Given the description of an element on the screen output the (x, y) to click on. 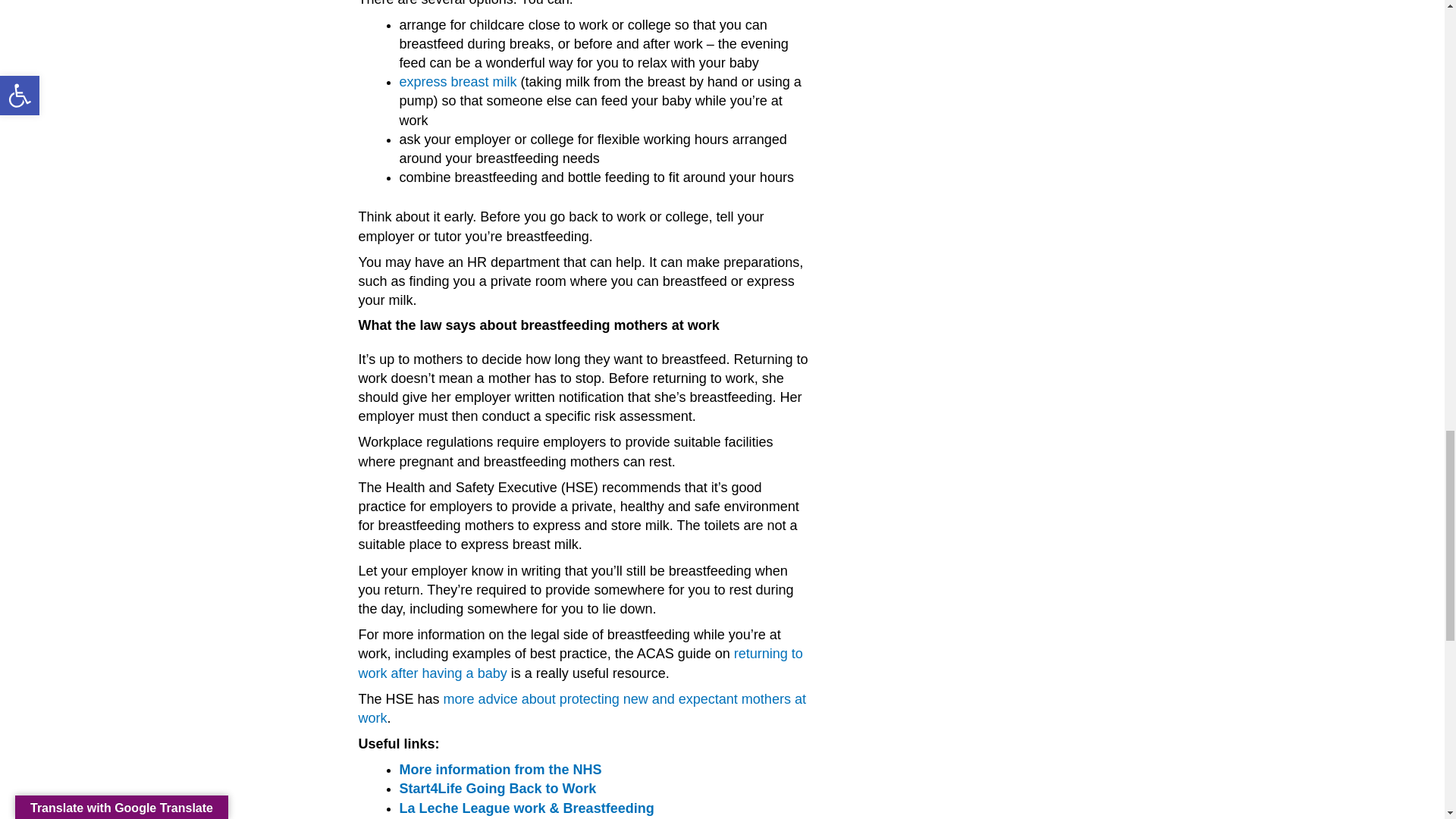
Start4Life Going Back to Work (497, 788)
More information from the NHS (500, 769)
express breast milk (457, 81)
Opens in a new window (580, 663)
returning to work after having a baby (580, 663)
